Given the description of an element on the screen output the (x, y) to click on. 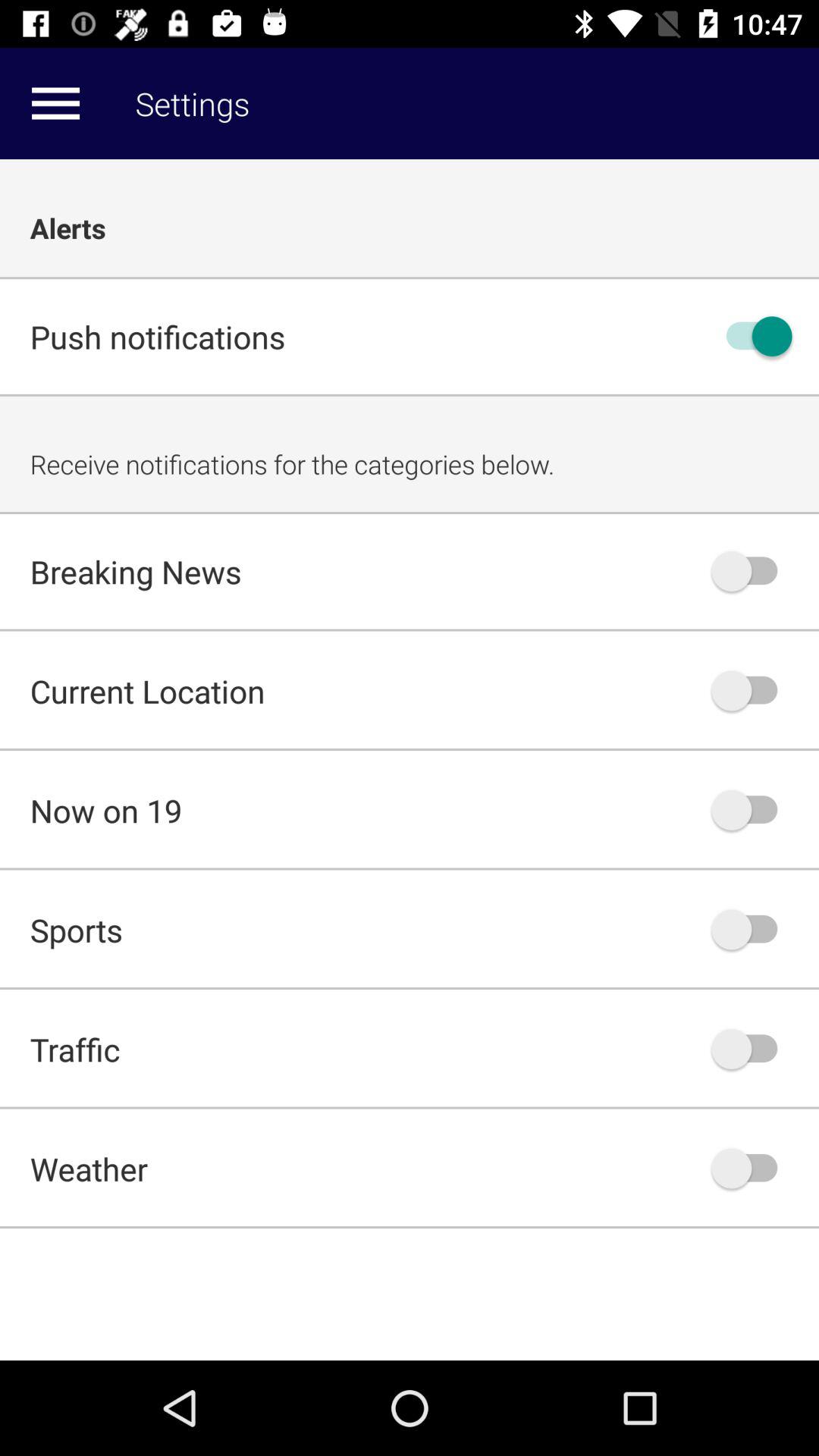
tap the icon at the top left corner (55, 103)
